Given the description of an element on the screen output the (x, y) to click on. 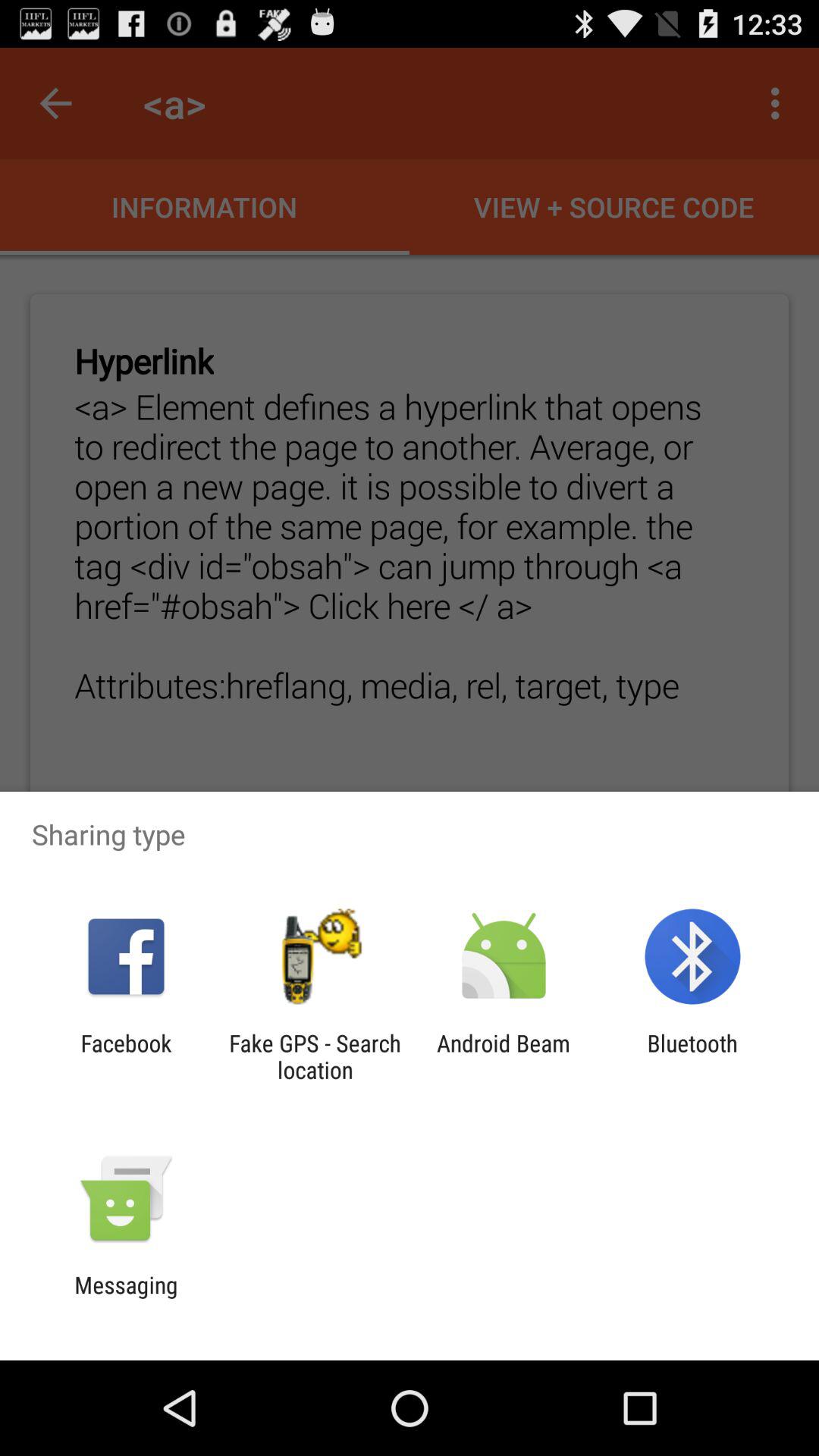
choose android beam (503, 1056)
